Given the description of an element on the screen output the (x, y) to click on. 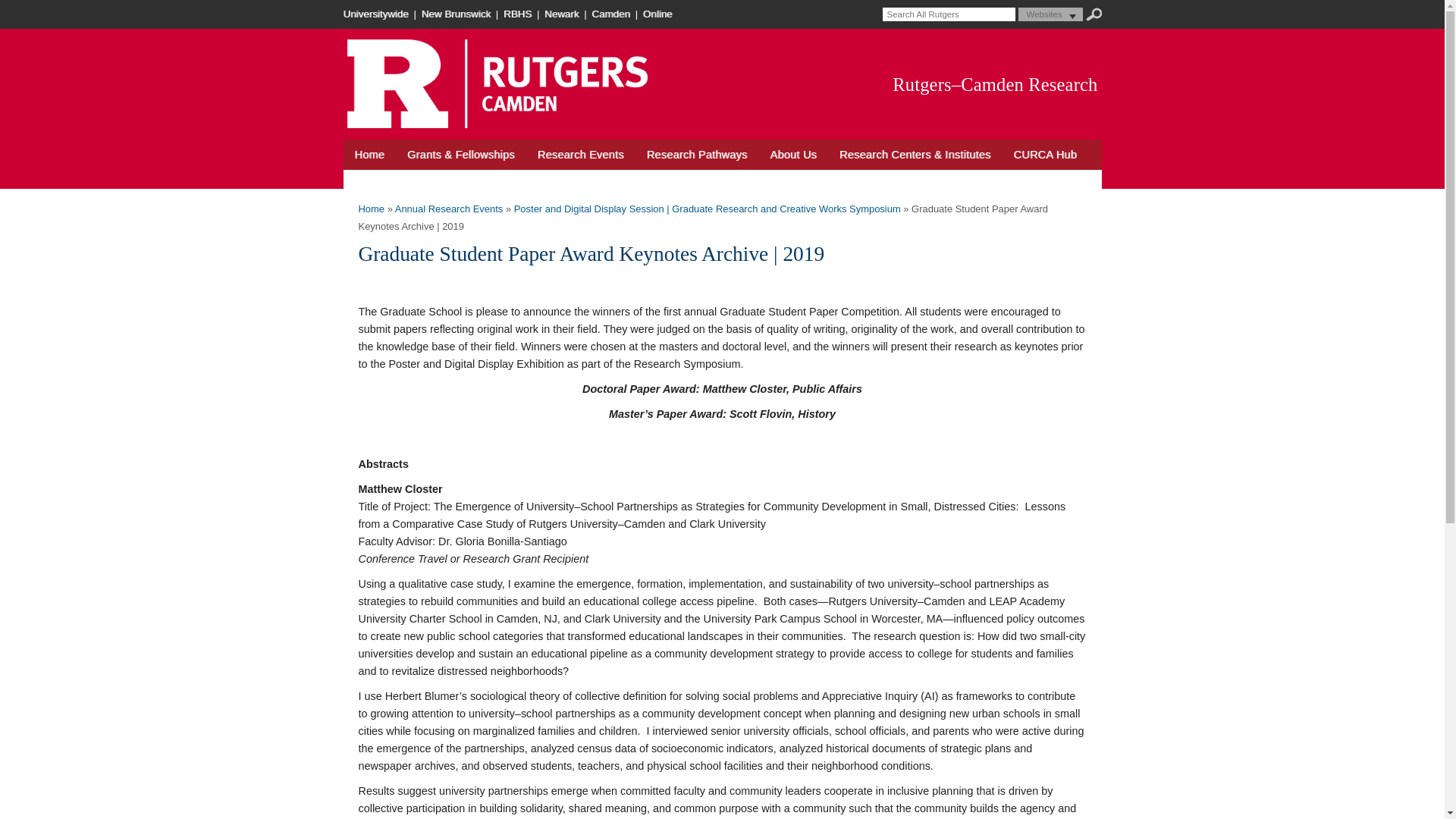
Rutgers-New Brunswick home page (457, 14)
Rutgers Biomedical and Health Sciences home page (518, 14)
New Brunswick (457, 14)
Research Events (579, 154)
Rutgers Online home page (659, 14)
Search (1094, 14)
Research Pathways (696, 154)
Annual Research Events (448, 208)
Home (369, 154)
Search (1094, 14)
RBHS (518, 14)
Rutgers University home page (376, 14)
About Us (793, 154)
CURCA Hub (1045, 154)
Universitywide (376, 14)
